Given the description of an element on the screen output the (x, y) to click on. 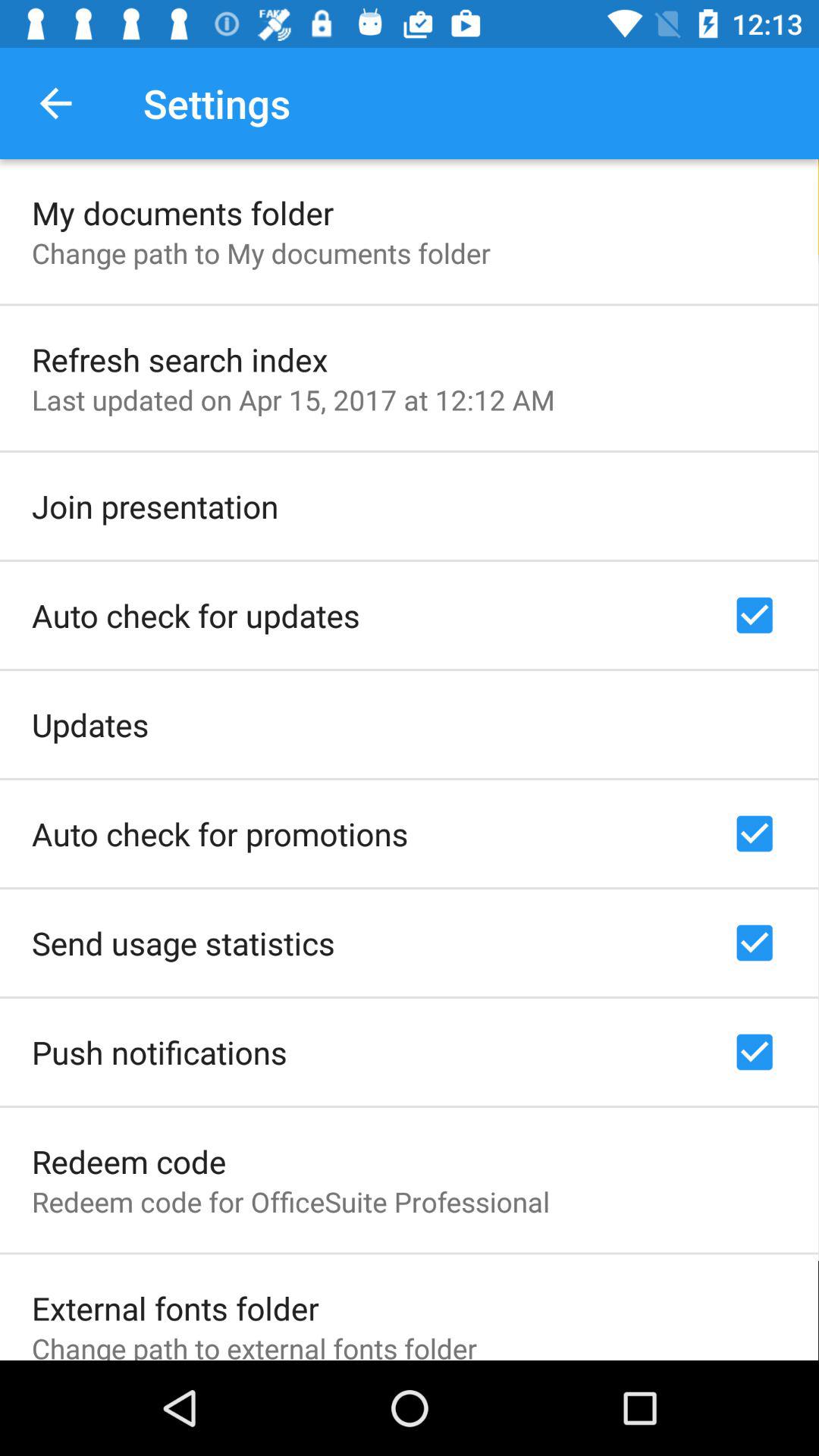
press the app to the left of settings app (55, 103)
